Given the description of an element on the screen output the (x, y) to click on. 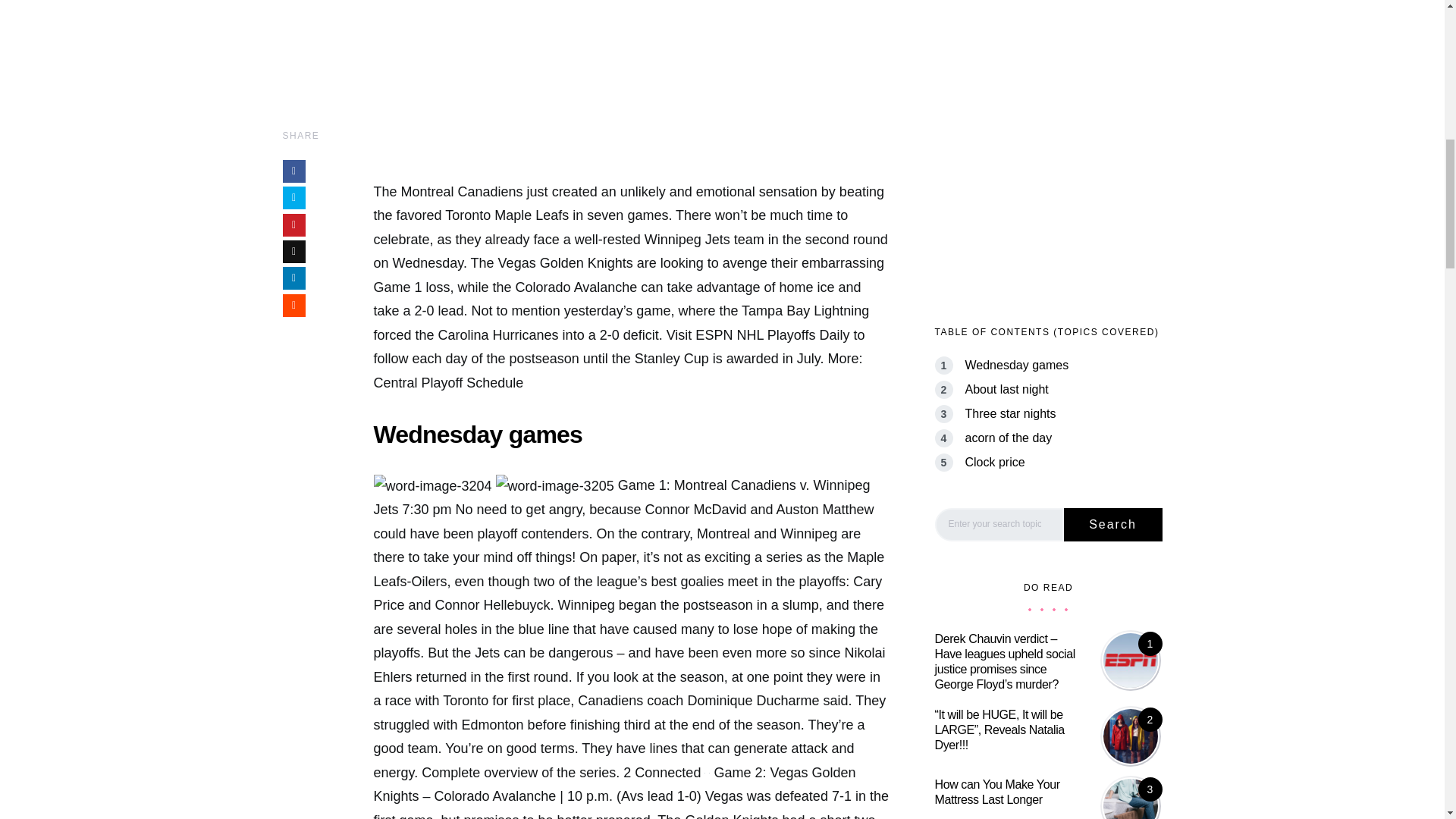
YouTube video player (630, 85)
